Given the description of an element on the screen output the (x, y) to click on. 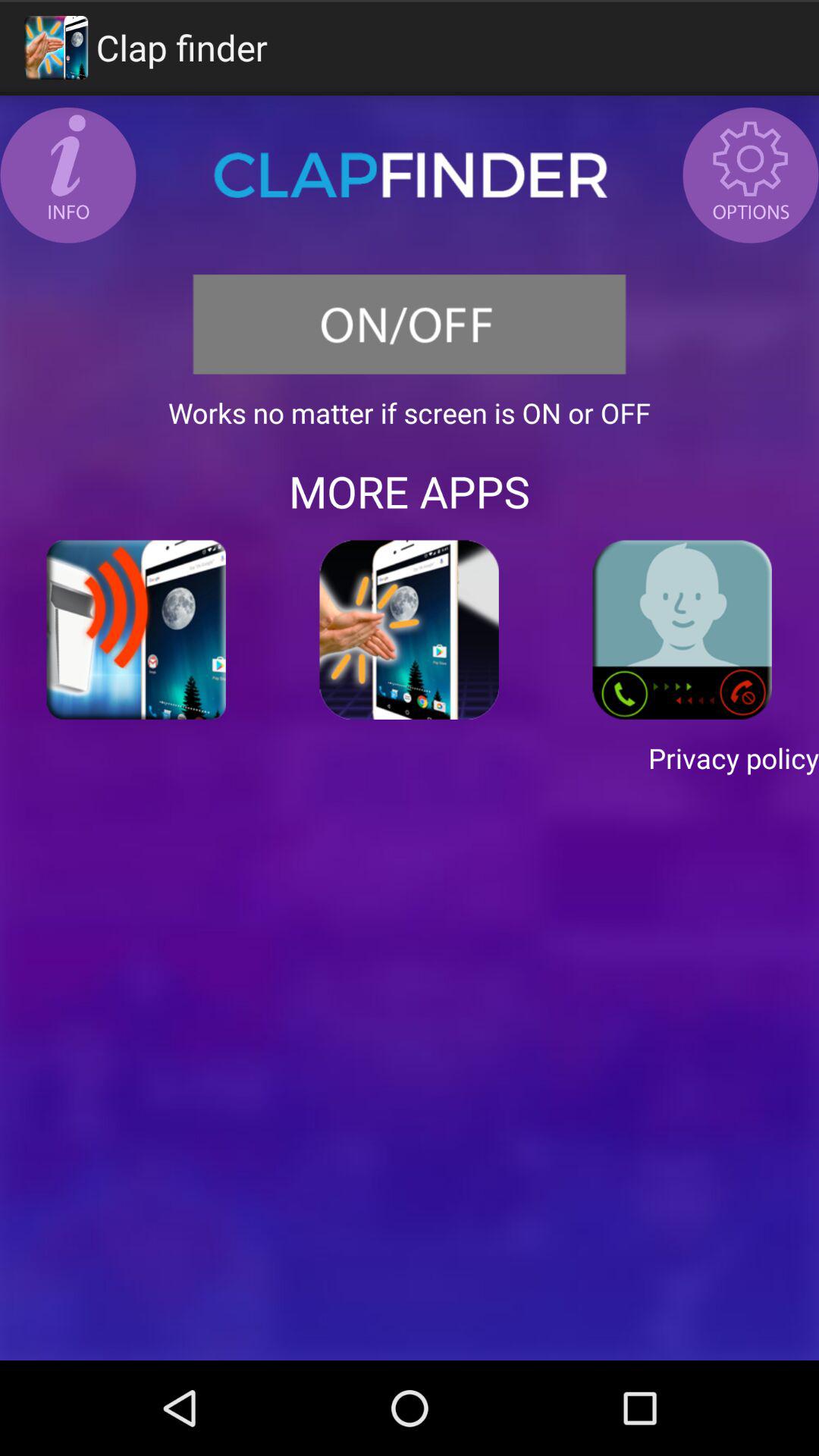
click the more apps app (409, 490)
